Given the description of an element on the screen output the (x, y) to click on. 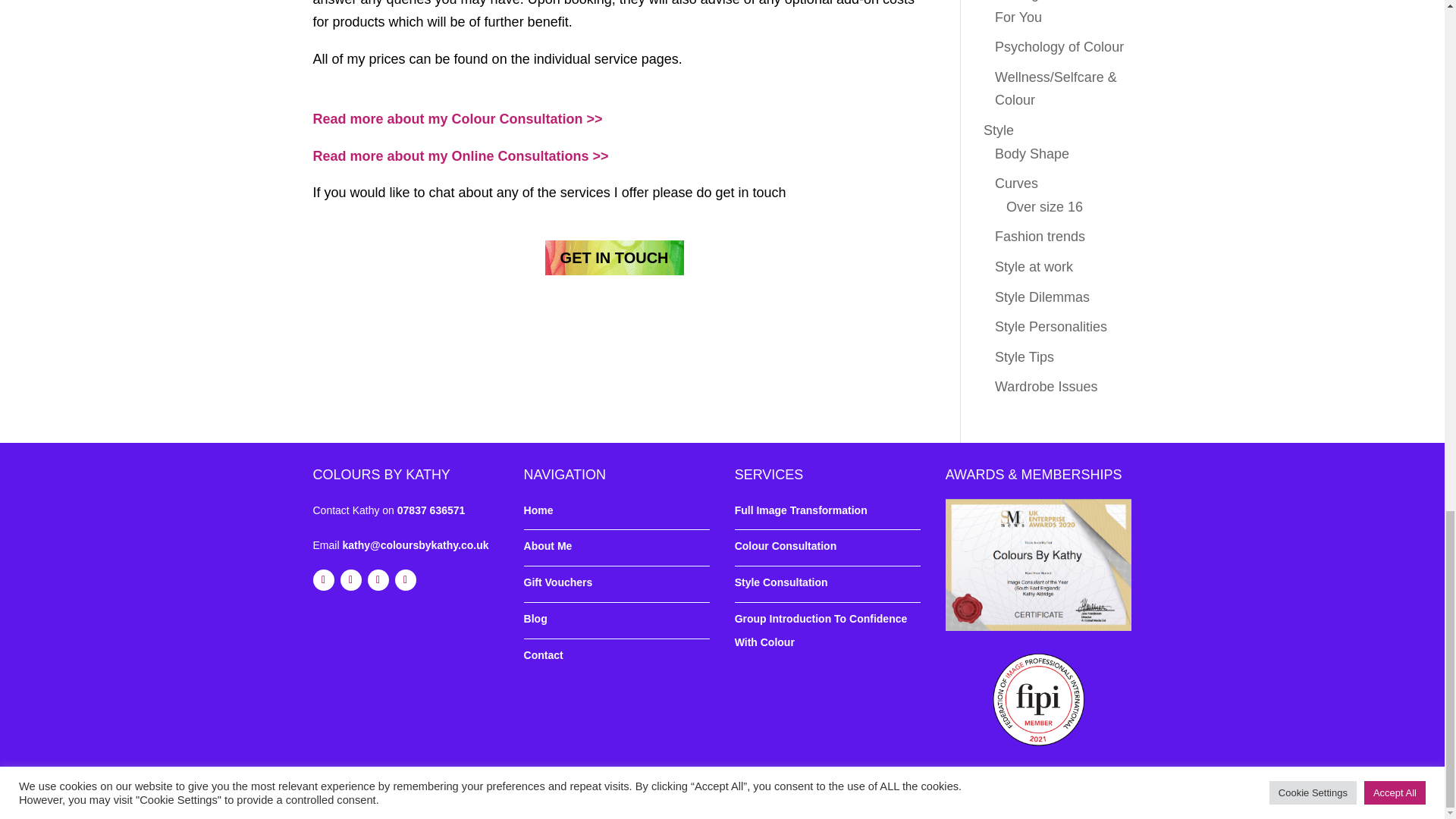
Follow on Facebook (323, 579)
Follow on LinkedIn (377, 579)
Follow on google-plus (404, 579)
GET IN TOUCH (614, 257)
Follow on Instagram (350, 579)
